Given the description of an element on the screen output the (x, y) to click on. 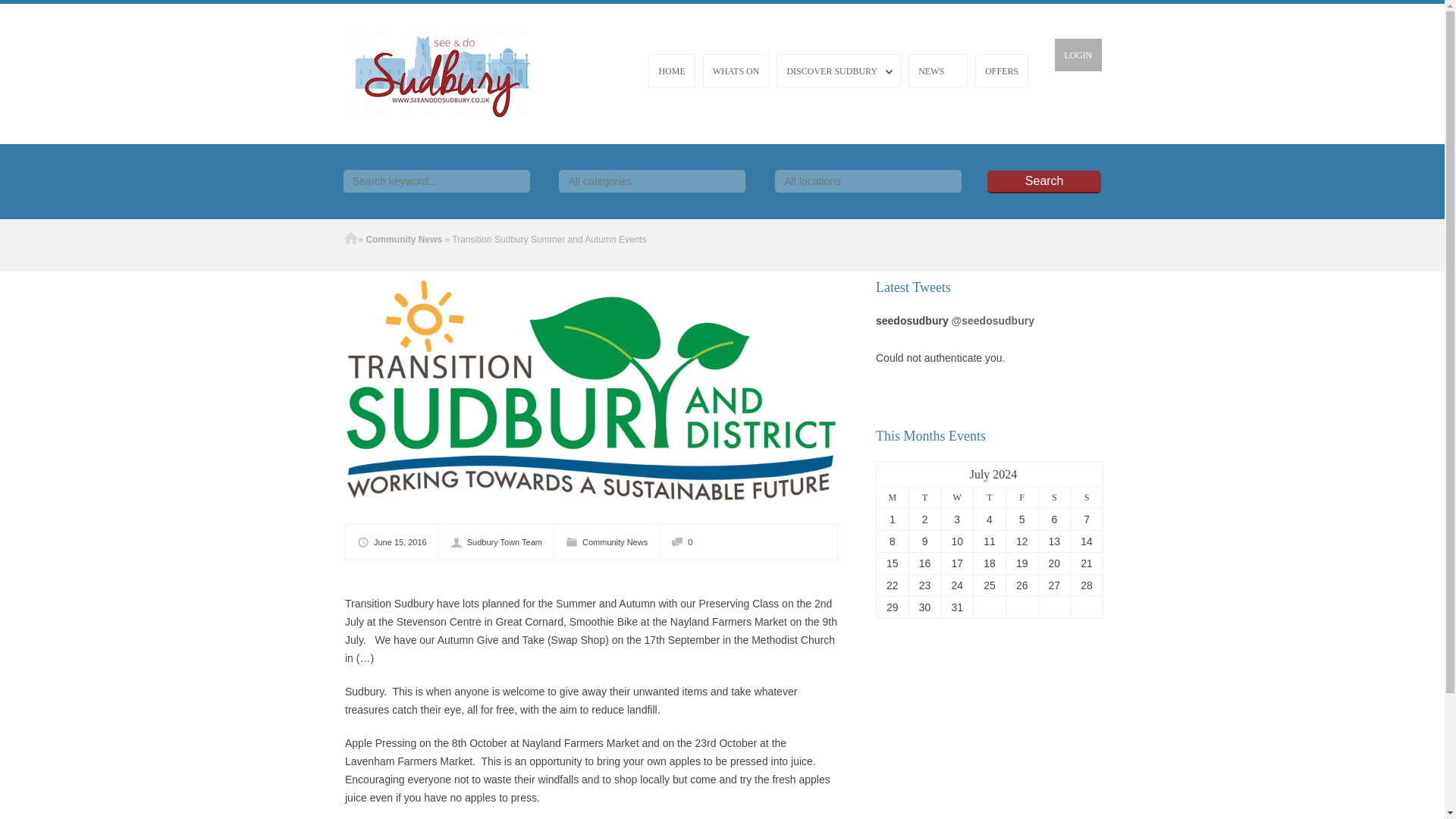
June 15, 2016 (397, 541)
Wednesday (957, 496)
June 15, 2016 (397, 541)
Search (1043, 181)
Saturday (1054, 496)
Sunday (1086, 496)
NEWS (938, 70)
Community News (614, 542)
Community News (404, 239)
View all posts by Sudbury Town Team (501, 541)
Friday (1022, 496)
WHATS ON (736, 70)
DISCOVER SUDBURY (838, 70)
Tuesday (924, 496)
Monday (892, 496)
